Given the description of an element on the screen output the (x, y) to click on. 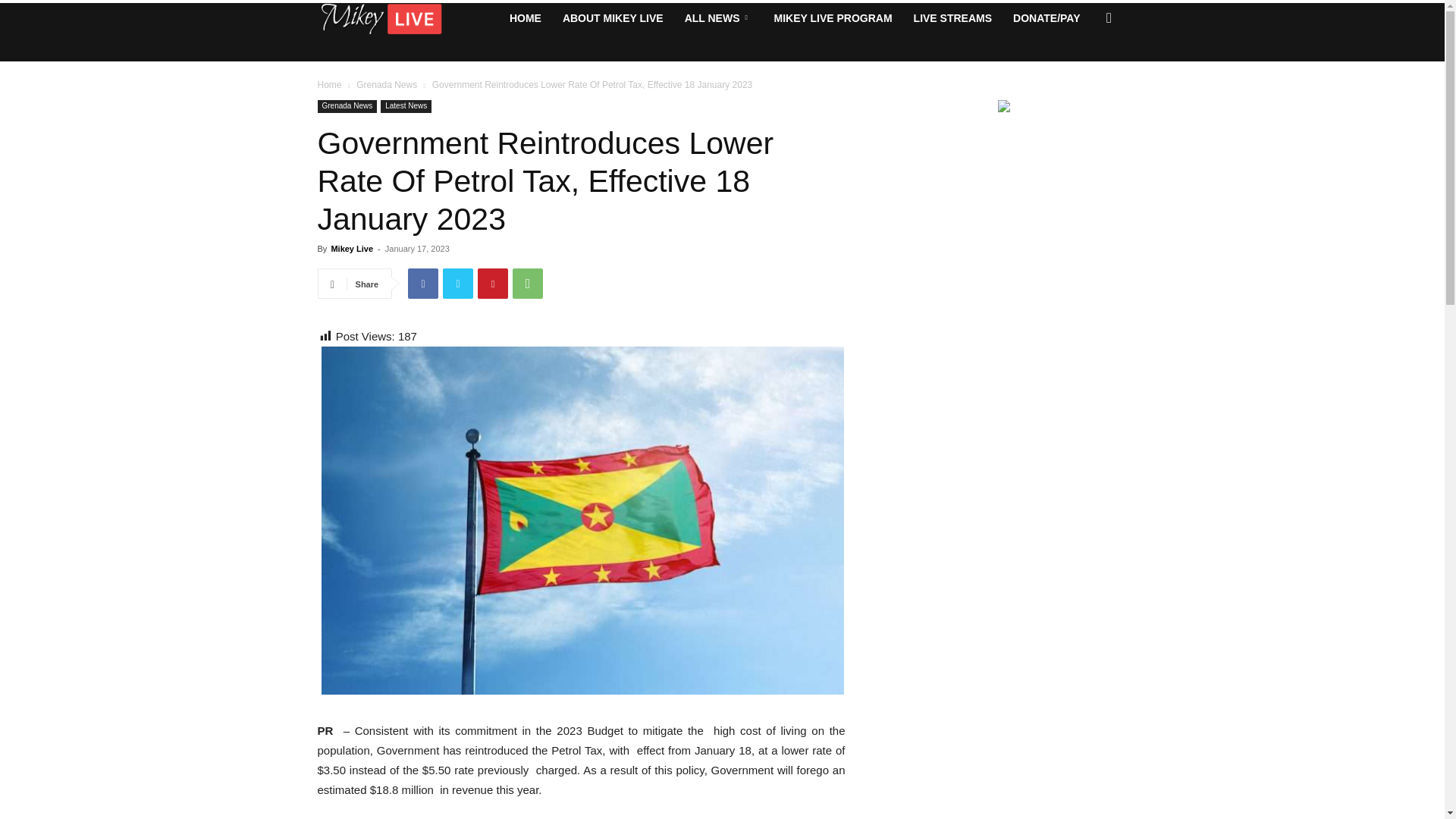
Grenada News (386, 84)
Search (1085, 78)
Mikey Live (351, 248)
LIVE STREAMS (952, 18)
ABOUT MIKEY LIVE (612, 18)
Grenada News (347, 106)
HOME (525, 18)
ALL NEWS (718, 18)
Facebook (422, 283)
View all posts in Grenada News (386, 84)
MIKEY LIVE PROGRAM (832, 18)
Twitter (457, 283)
Latest News (405, 106)
Home (328, 84)
WhatsApp (527, 283)
